Given the description of an element on the screen output the (x, y) to click on. 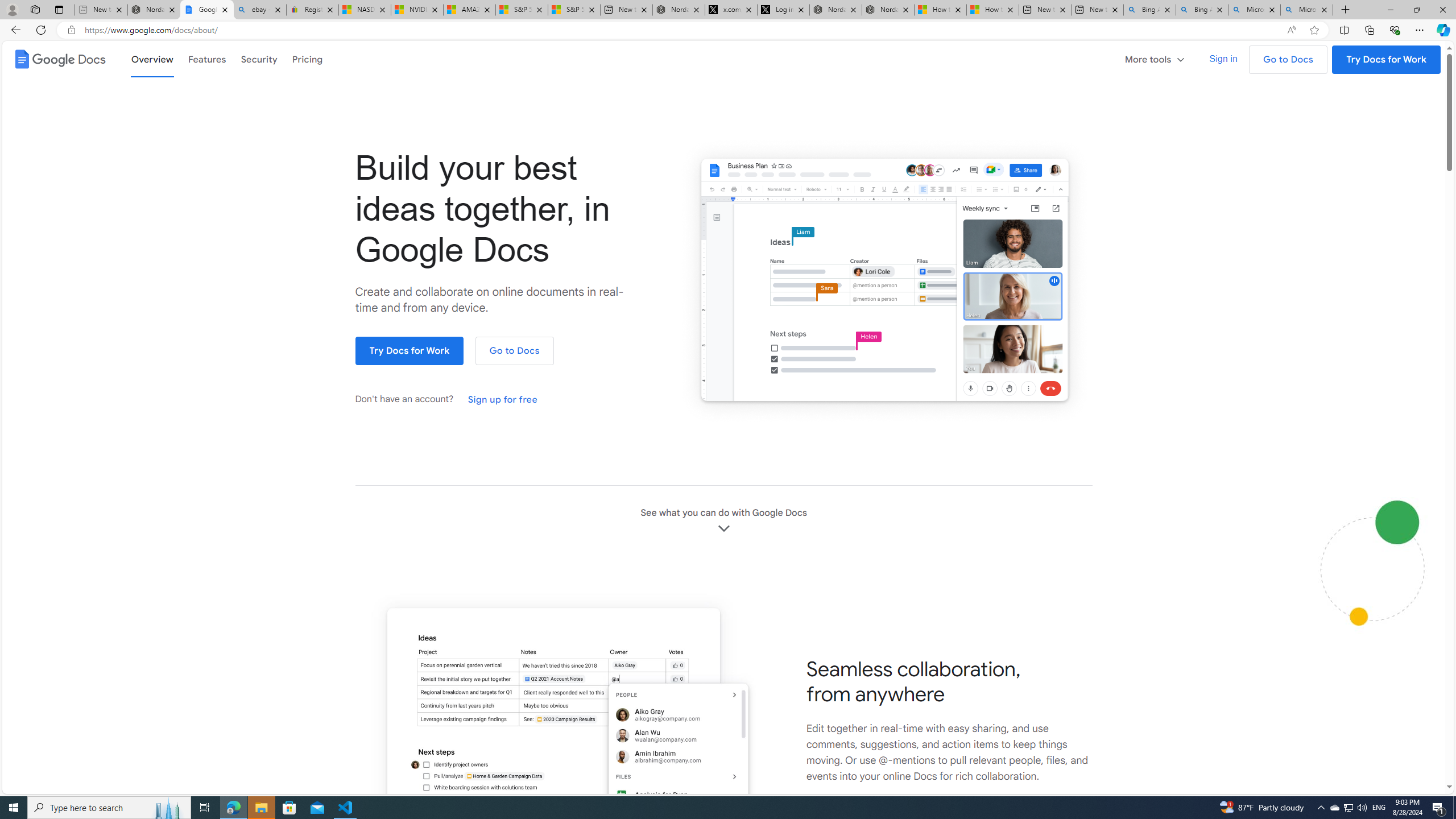
Sign in (1223, 58)
Features (207, 58)
Try Docs for Work (409, 351)
